Given the description of an element on the screen output the (x, y) to click on. 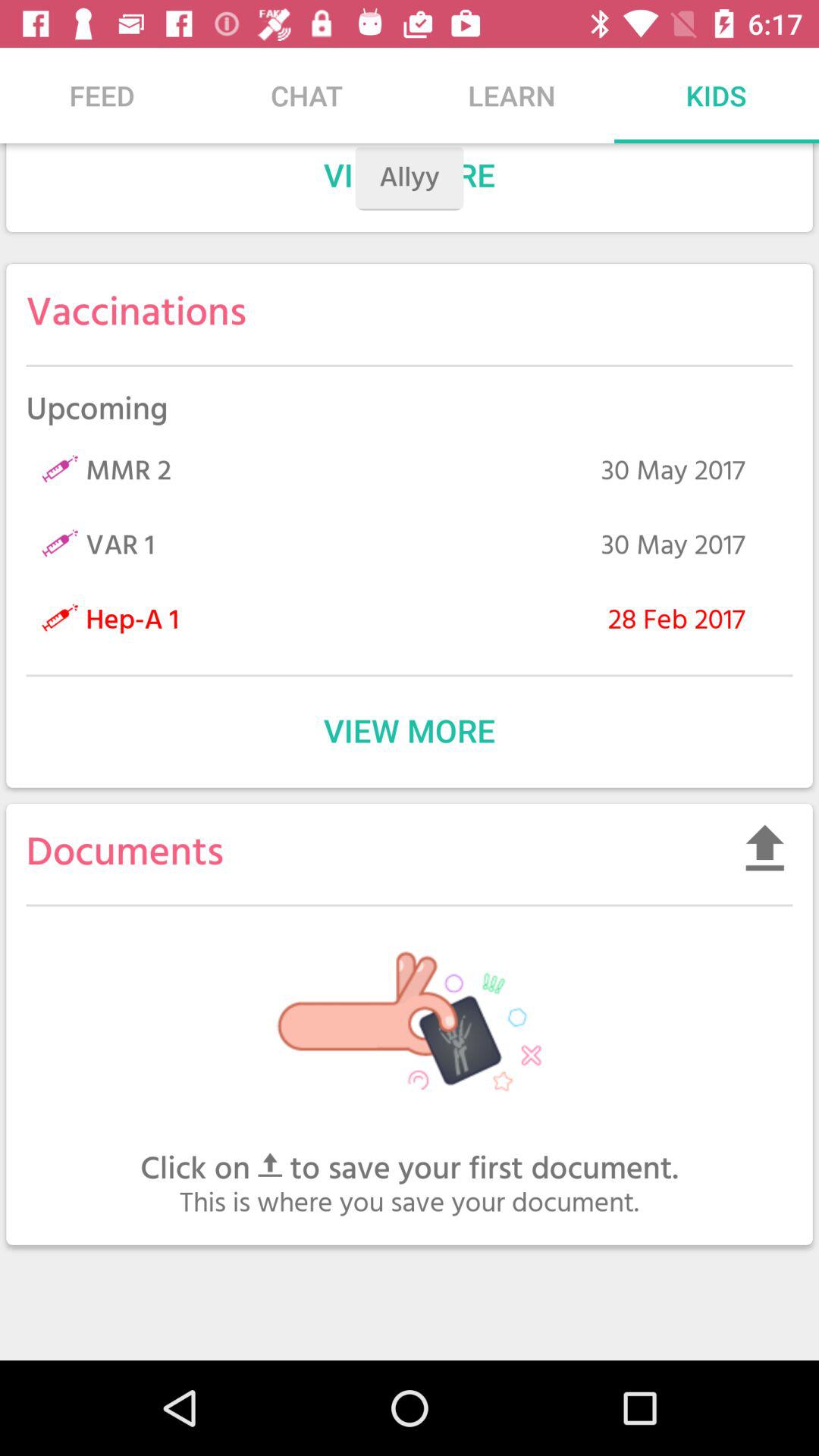
save document (764, 847)
